Given the description of an element on the screen output the (x, y) to click on. 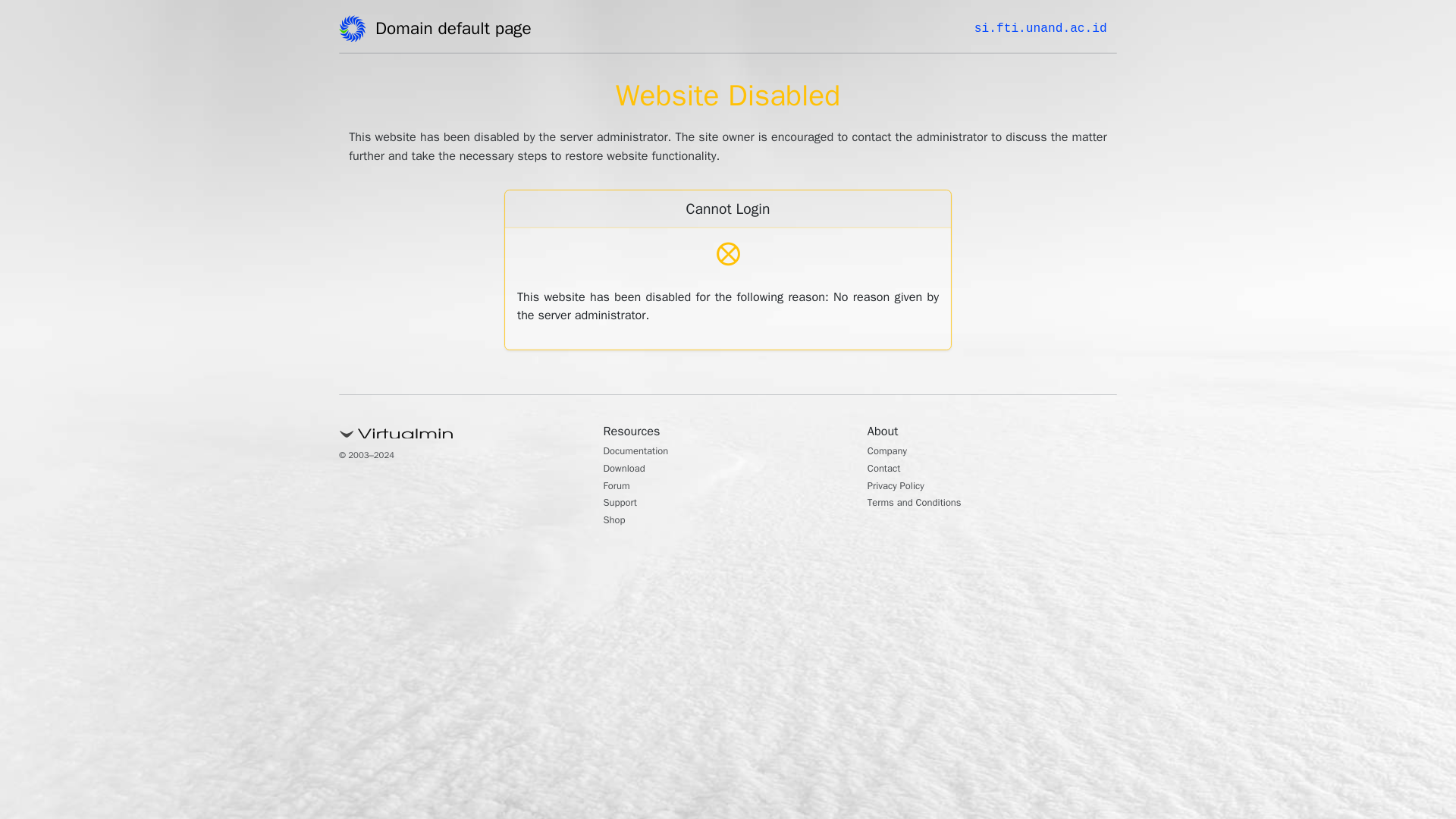
Support (624, 503)
Privacy Policy (902, 487)
Shop (617, 521)
Terms and Conditions (925, 503)
Contact (887, 469)
Domain default page (457, 31)
Download (629, 469)
Documentation (644, 452)
Forum (620, 487)
Company (891, 452)
